Given the description of an element on the screen output the (x, y) to click on. 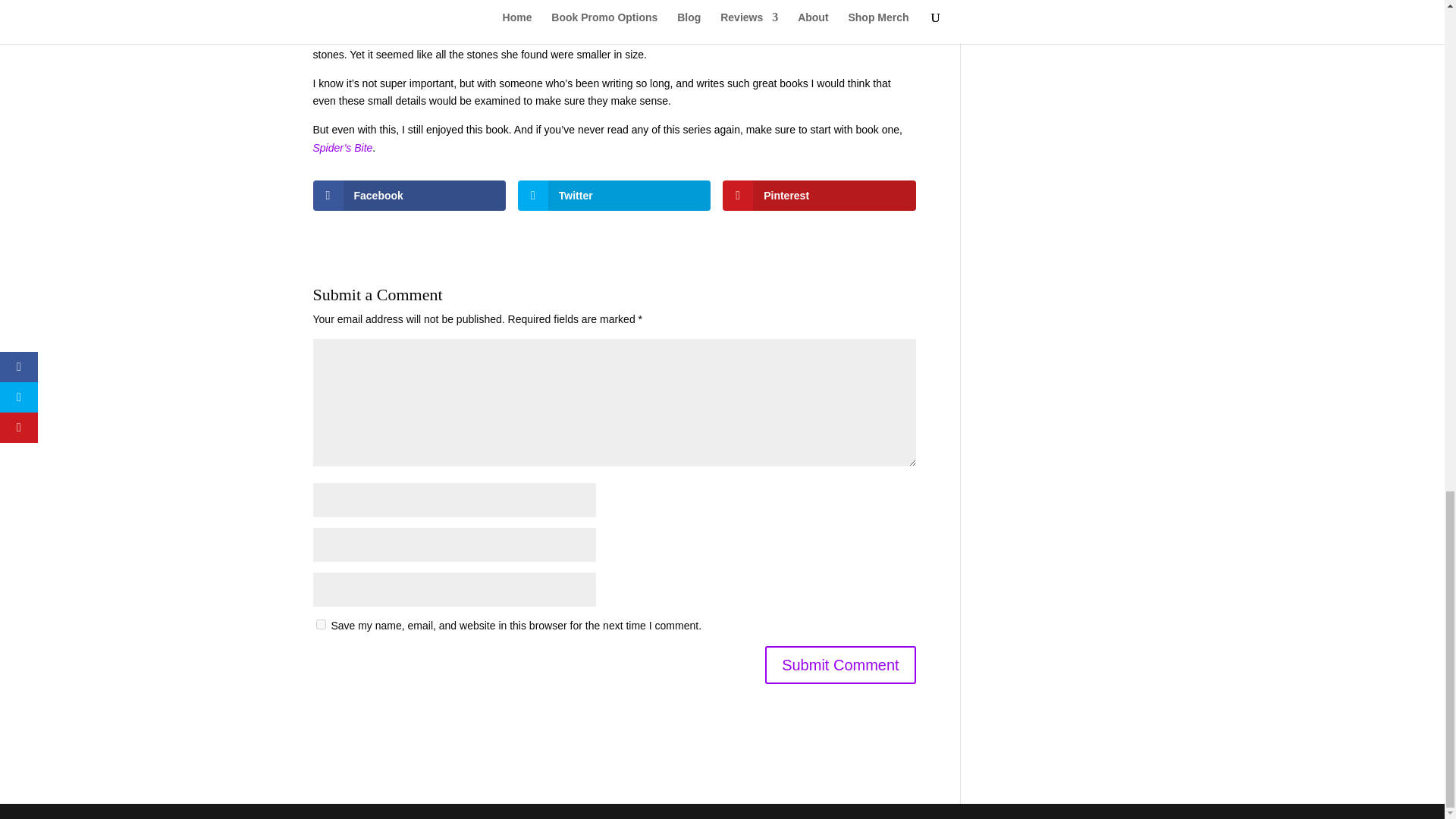
Pinterest (818, 195)
Submit Comment (840, 664)
Facebook (409, 195)
yes (319, 624)
Submit Comment (840, 664)
Twitter (614, 195)
